Given the description of an element on the screen output the (x, y) to click on. 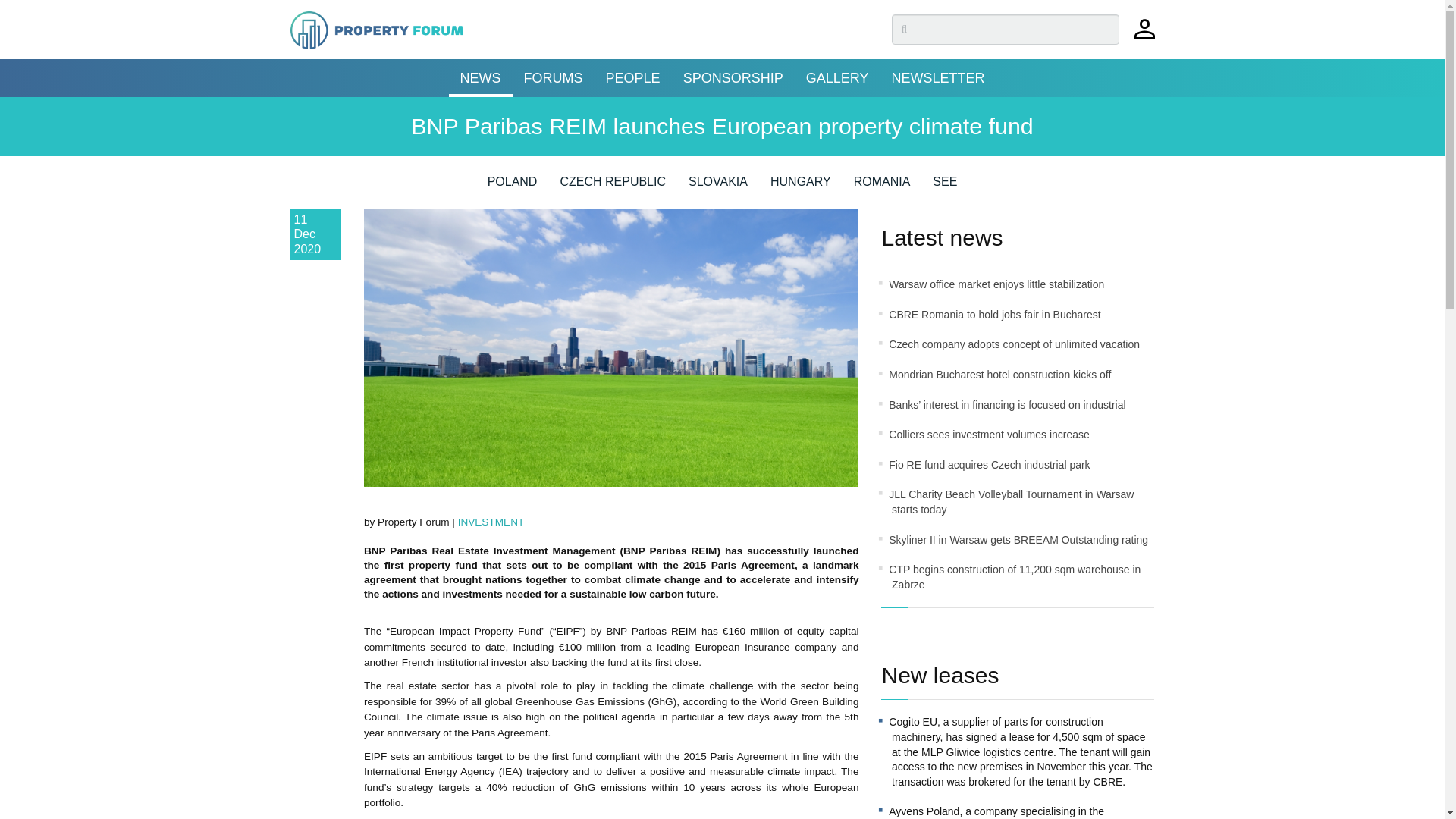
NEWS (480, 77)
HUNGARY (800, 186)
PEOPLE (632, 77)
POLAND (512, 186)
GALLERY (837, 77)
SPONSORSHIP (732, 77)
NEWSLETTER (937, 77)
INVESTMENT (491, 521)
SEE (944, 186)
FORUMS (553, 77)
CZECH REPUBLIC (612, 186)
ROMANIA (882, 186)
SLOVAKIA (718, 186)
Signed out (1144, 36)
